Given the description of an element on the screen output the (x, y) to click on. 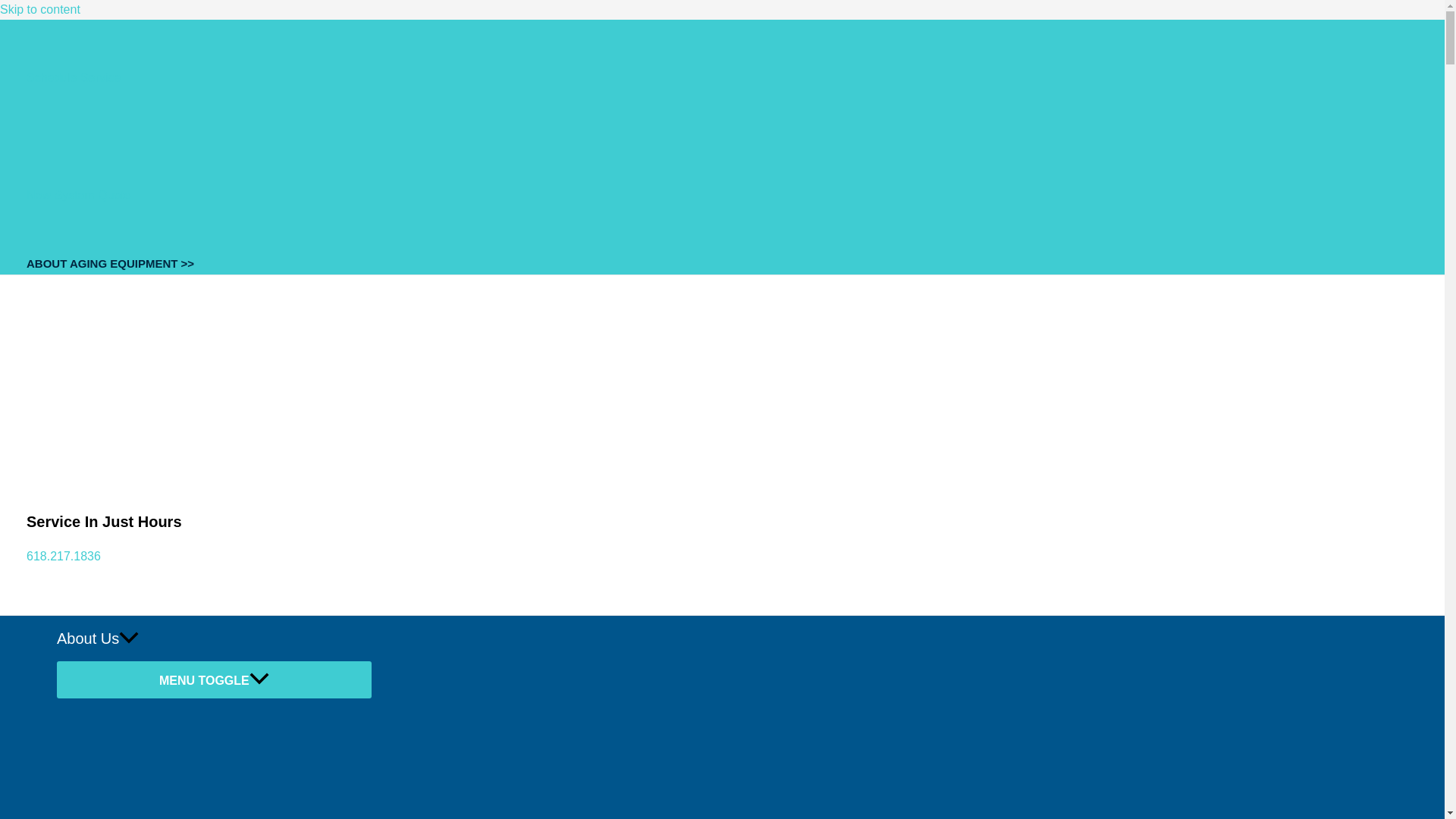
Skip to content (40, 9)
Schedule Service (73, 77)
New System Quote (78, 195)
MENU TOGGLE (213, 679)
618.217.1836 (63, 555)
About Us (213, 637)
